Given the description of an element on the screen output the (x, y) to click on. 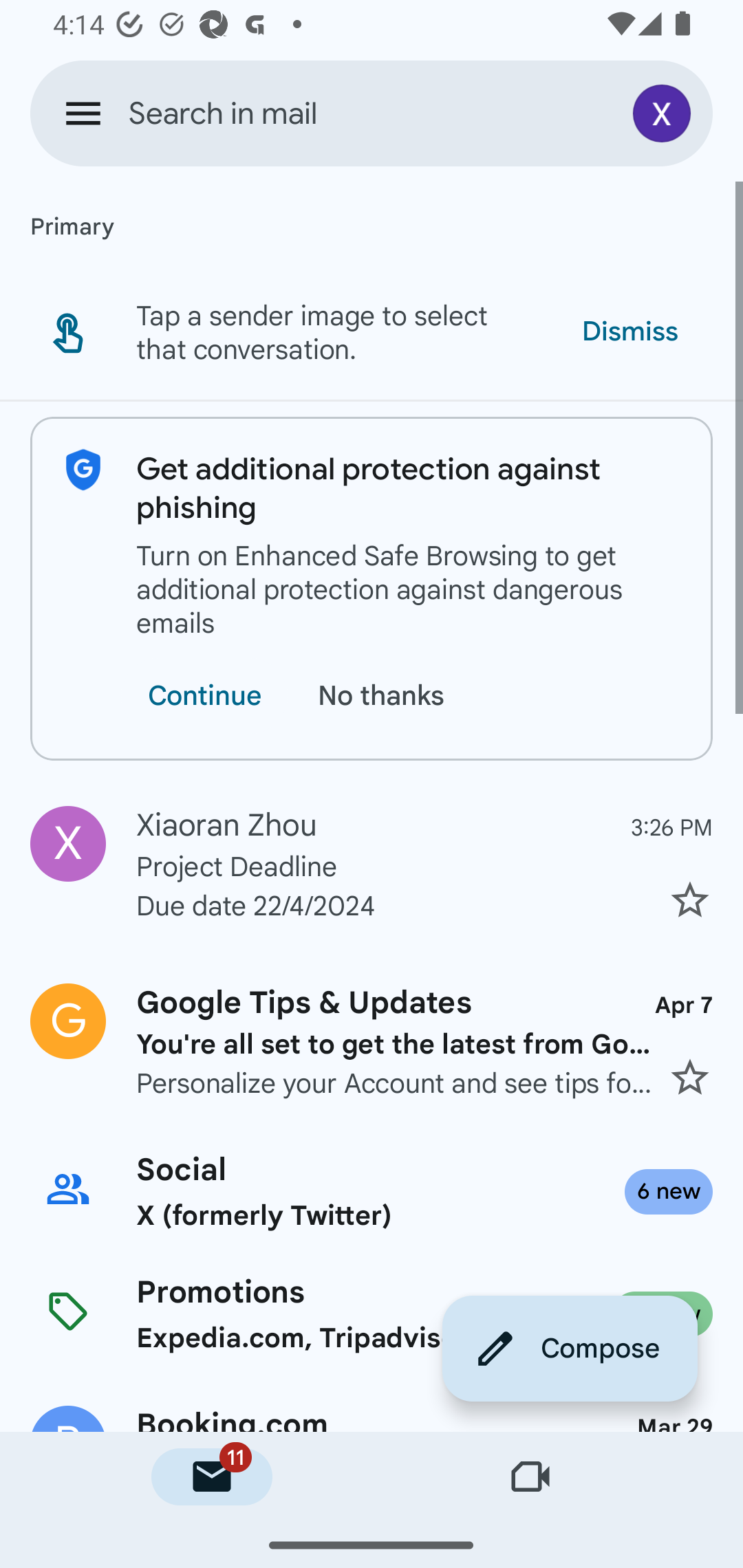
Open navigation drawer (82, 112)
Dismiss Dismiss tip (629, 331)
Continue (204, 695)
No thanks (385, 695)
Social X (formerly Twitter) 6 new (371, 1191)
Compose (569, 1348)
Meet (530, 1476)
